Given the description of an element on the screen output the (x, y) to click on. 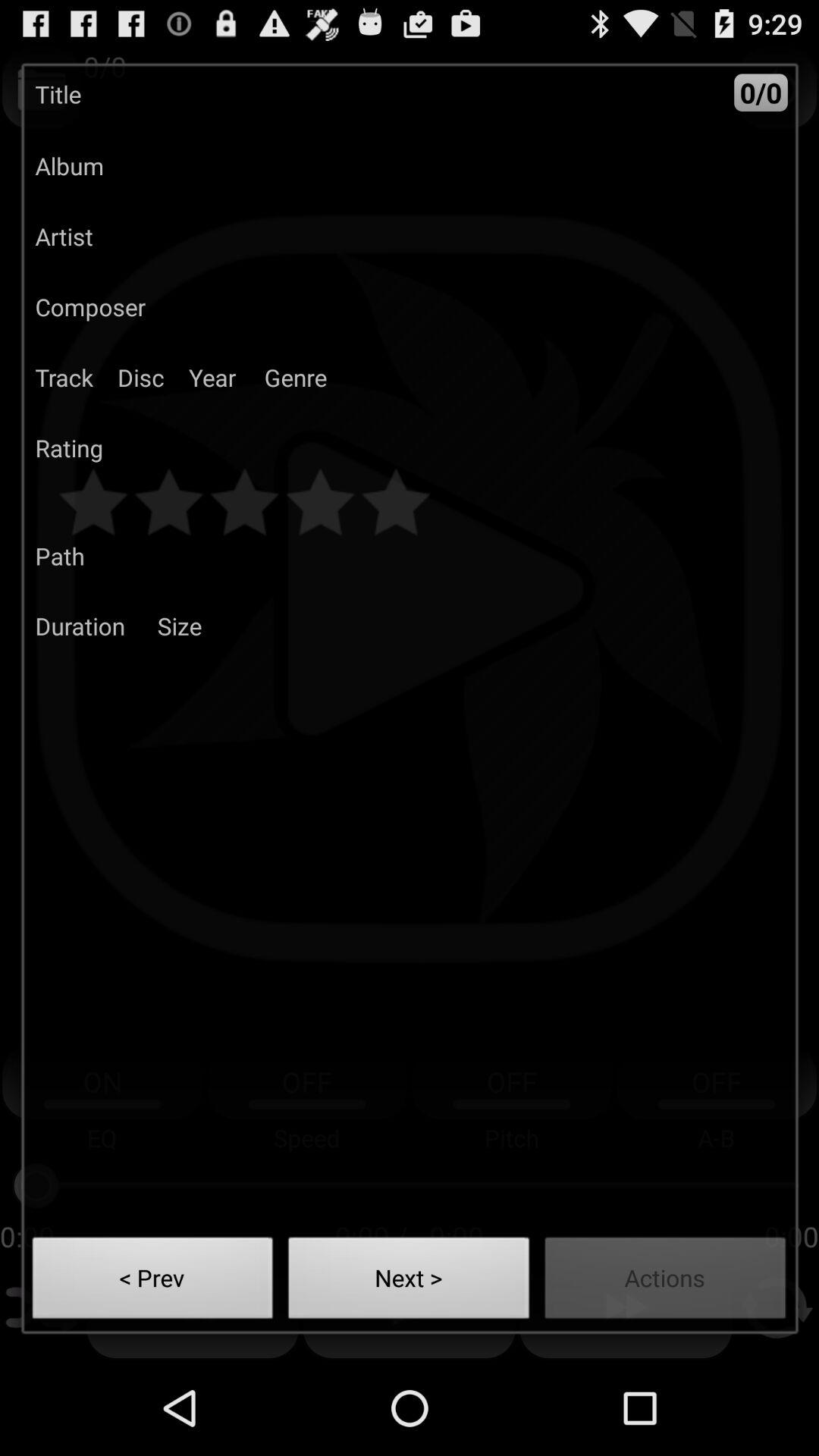
select the next > at the bottom (408, 1282)
